Given the description of an element on the screen output the (x, y) to click on. 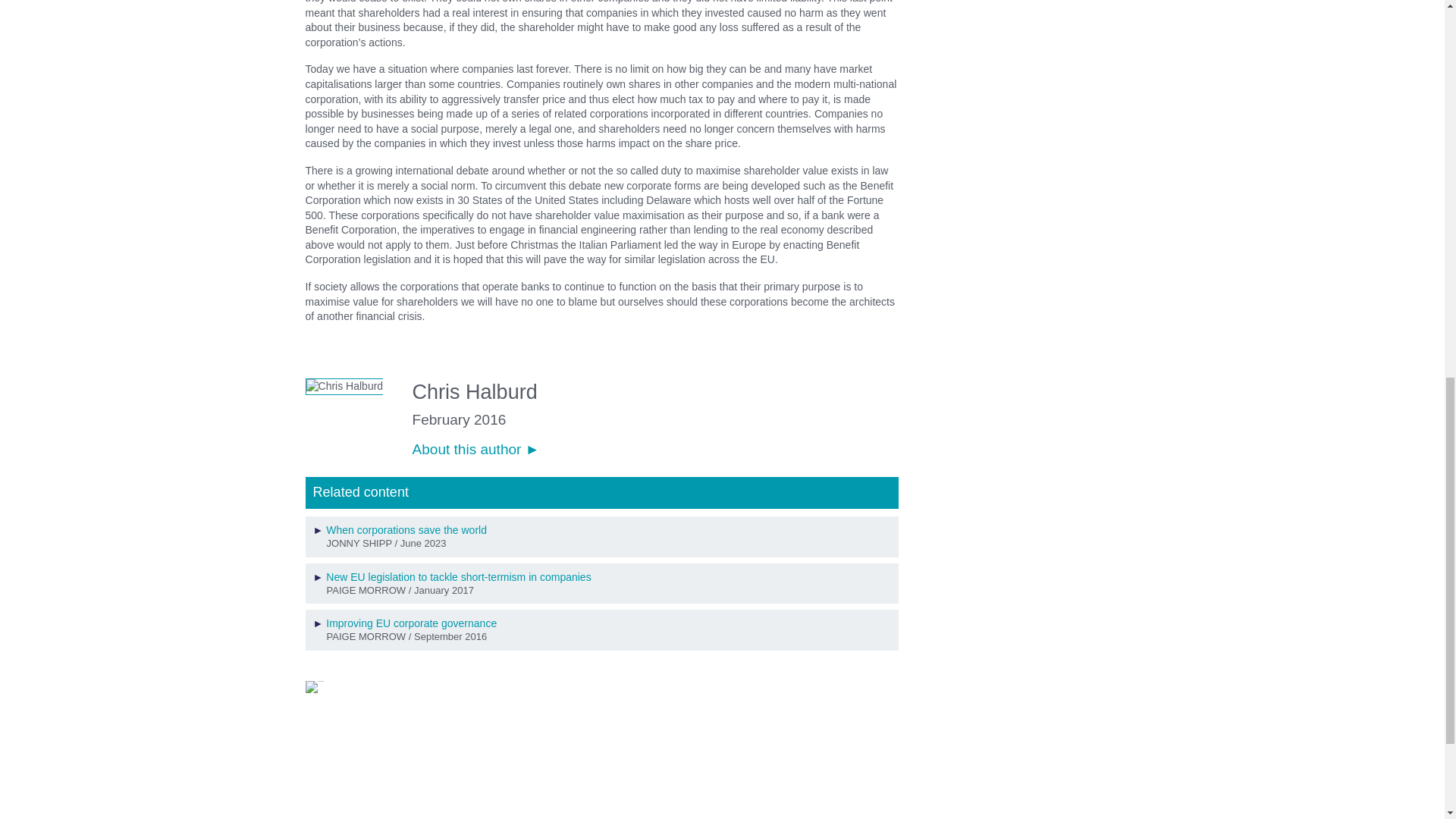
New EU legislation to tackle short-termism in companies (458, 576)
Improving EU corporate governance (411, 623)
When corporations save the world (406, 530)
